Given the description of an element on the screen output the (x, y) to click on. 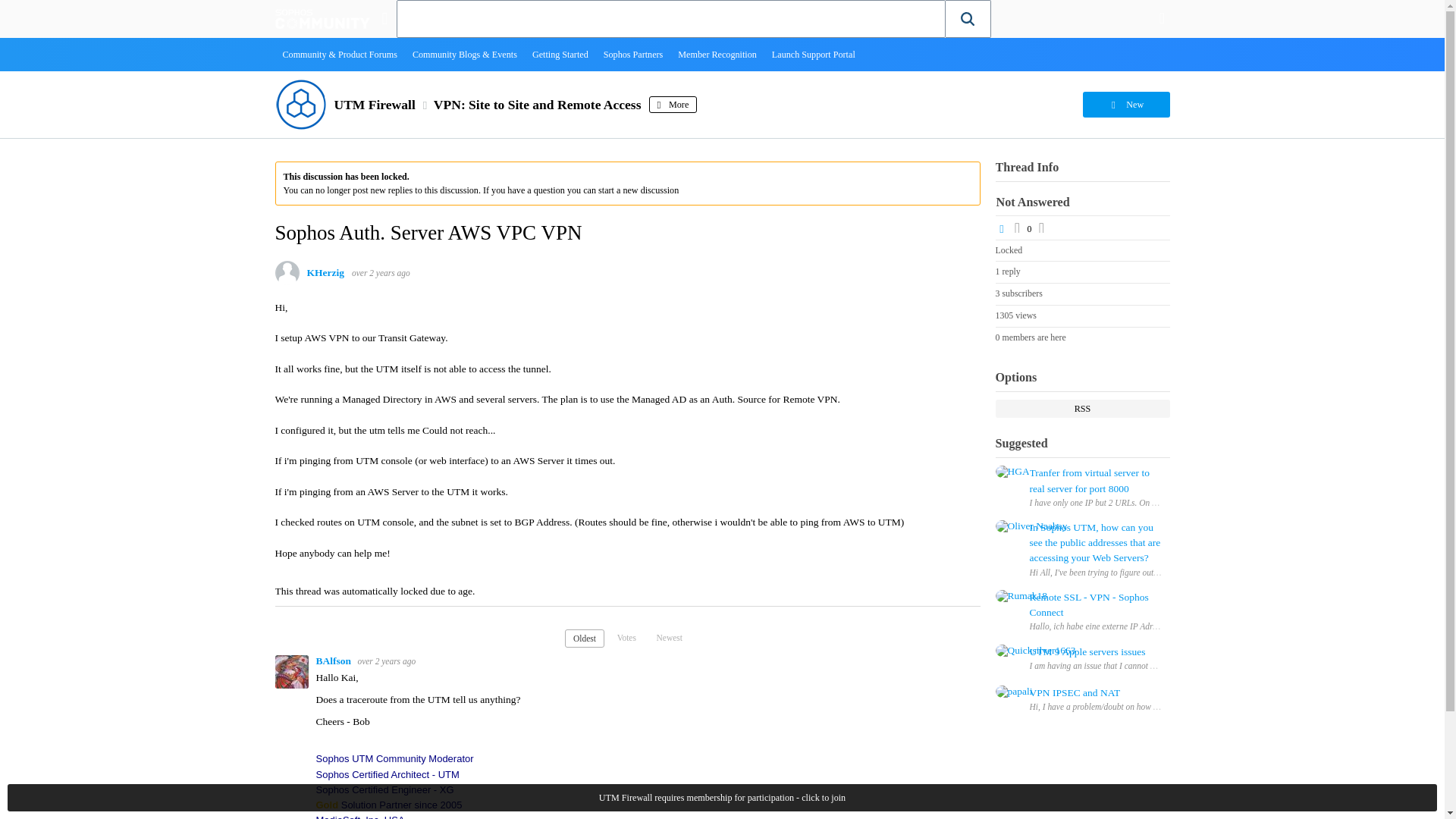
Site (384, 18)
Groups (384, 18)
VPN: Site to Site and Remote Access (537, 104)
Getting Started (559, 54)
Launch Support Portal (813, 54)
UTM Firewall (373, 104)
Join or sign in (1161, 17)
Insert a query. Press enter to send (670, 18)
Member Recognition (716, 54)
Home (322, 18)
Sophos Partners (633, 54)
User (1161, 17)
